Given the description of an element on the screen output the (x, y) to click on. 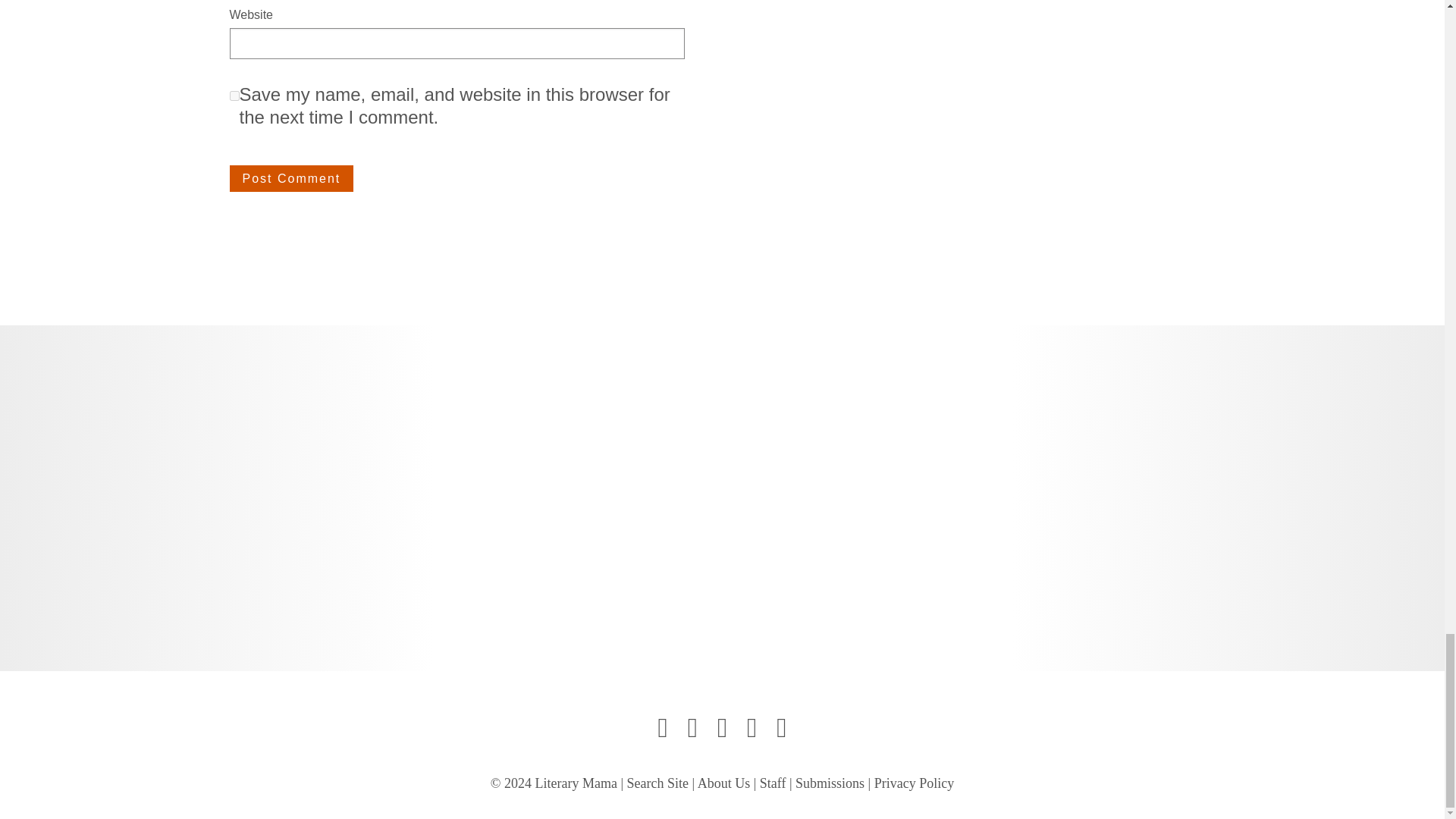
Post Comment (290, 178)
Post Comment (290, 178)
yes (233, 95)
